Given the description of an element on the screen output the (x, y) to click on. 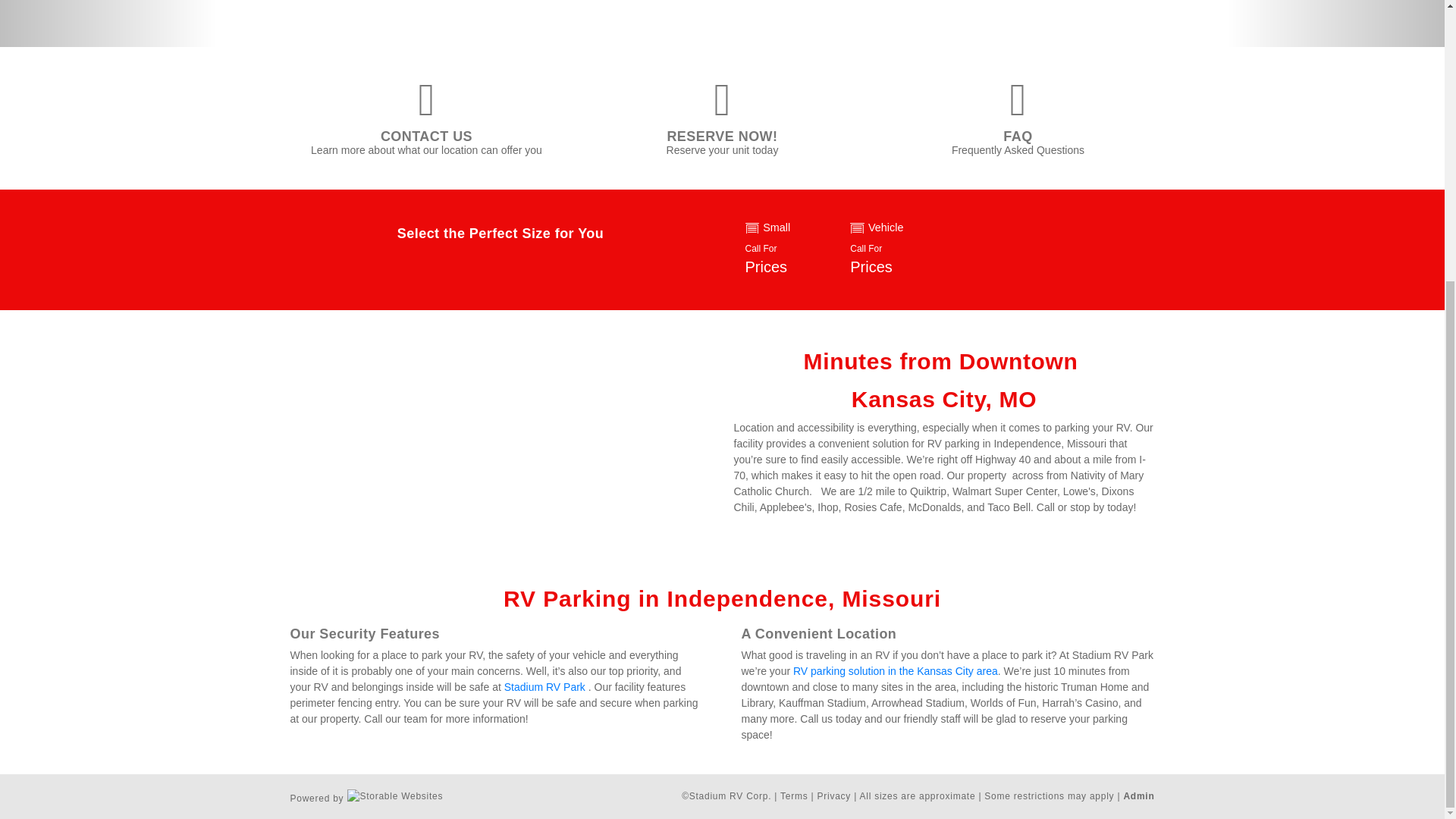
CONTACT US (785, 249)
Previous (425, 136)
Stadium RV Park (108, 23)
FAQ (544, 686)
Admin (1017, 136)
Terms (1138, 796)
Privacy (794, 796)
Powered by (891, 249)
